Given the description of an element on the screen output the (x, y) to click on. 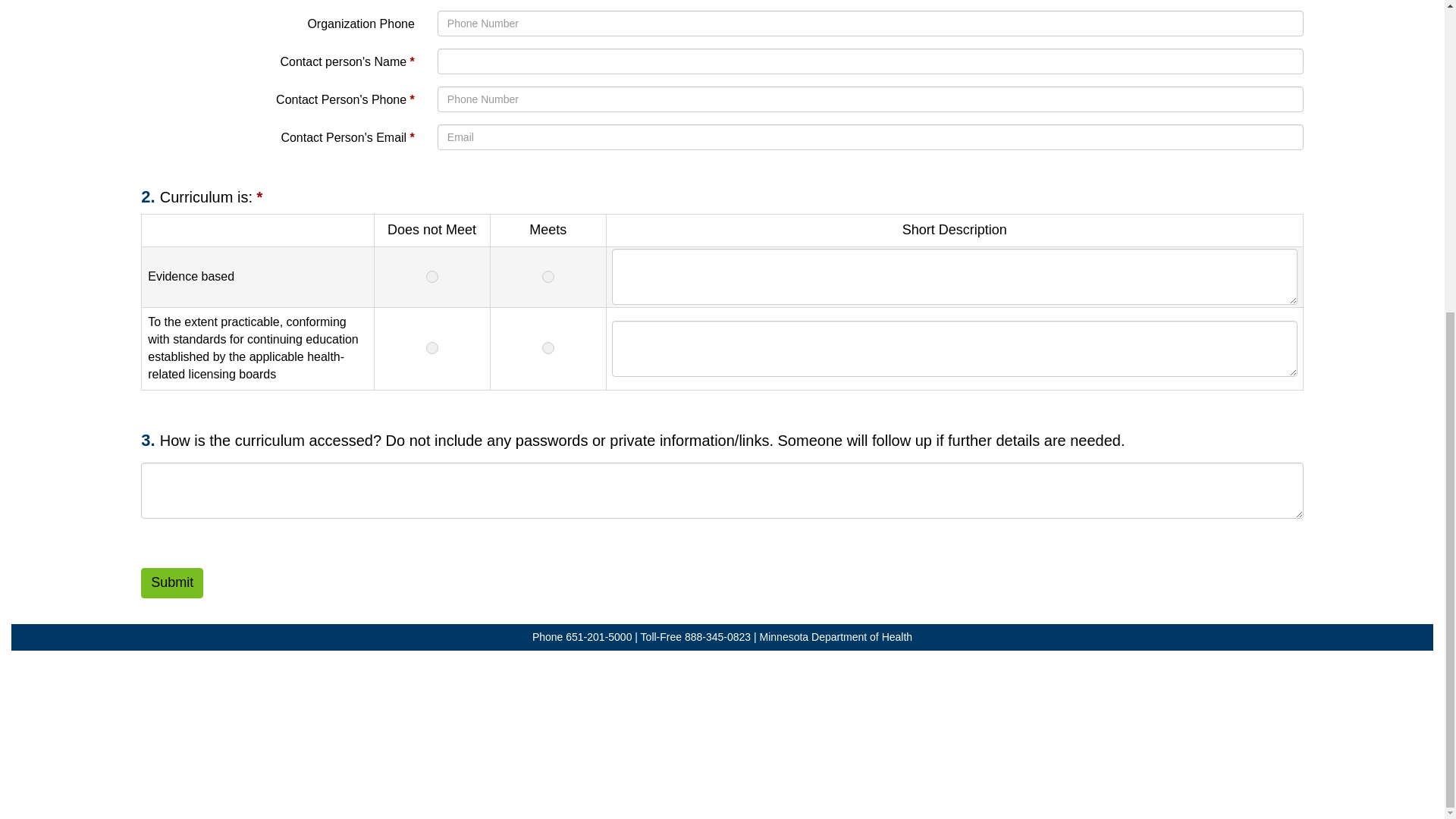
Submit (172, 583)
Evidence based Does not Meet (431, 276)
2. (149, 196)
Evidence based (954, 276)
Minnesota Department of Health (836, 636)
Evidence based Meets (547, 276)
3. (149, 439)
Submit (172, 583)
